Given the description of an element on the screen output the (x, y) to click on. 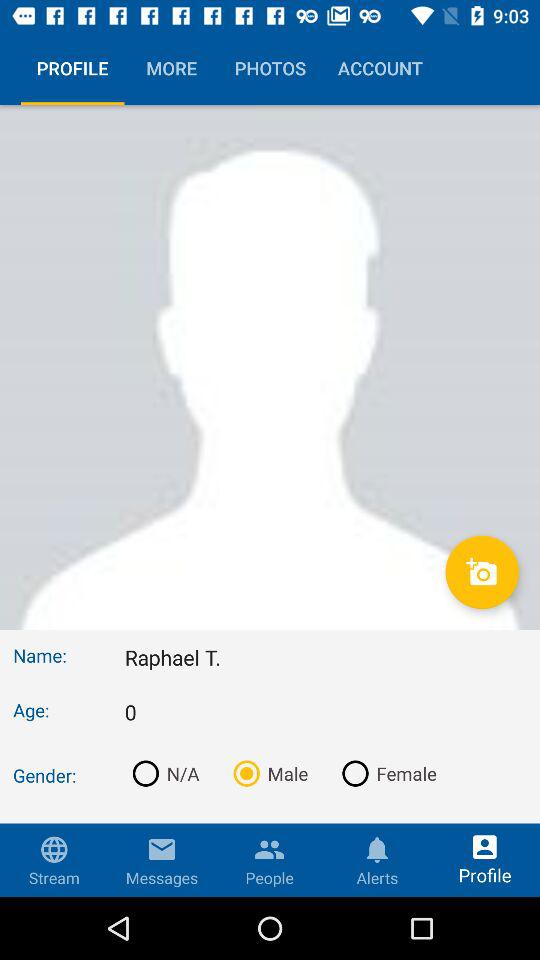
tap the female item (385, 773)
